Given the description of an element on the screen output the (x, y) to click on. 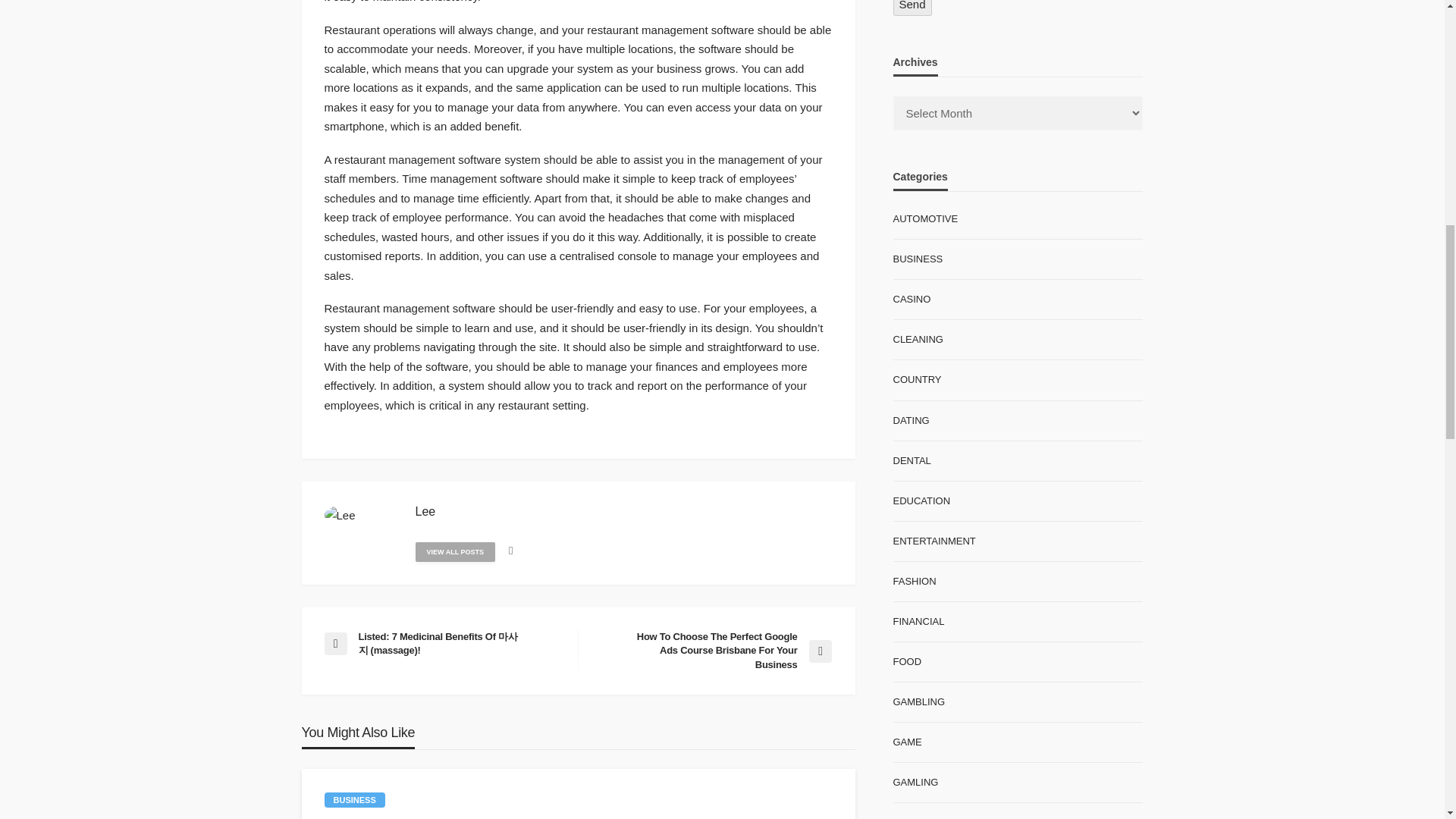
Business (354, 799)
Send (912, 8)
VIEW ALL POSTS (455, 551)
BUSINESS (354, 799)
Lee (424, 511)
